Given the description of an element on the screen output the (x, y) to click on. 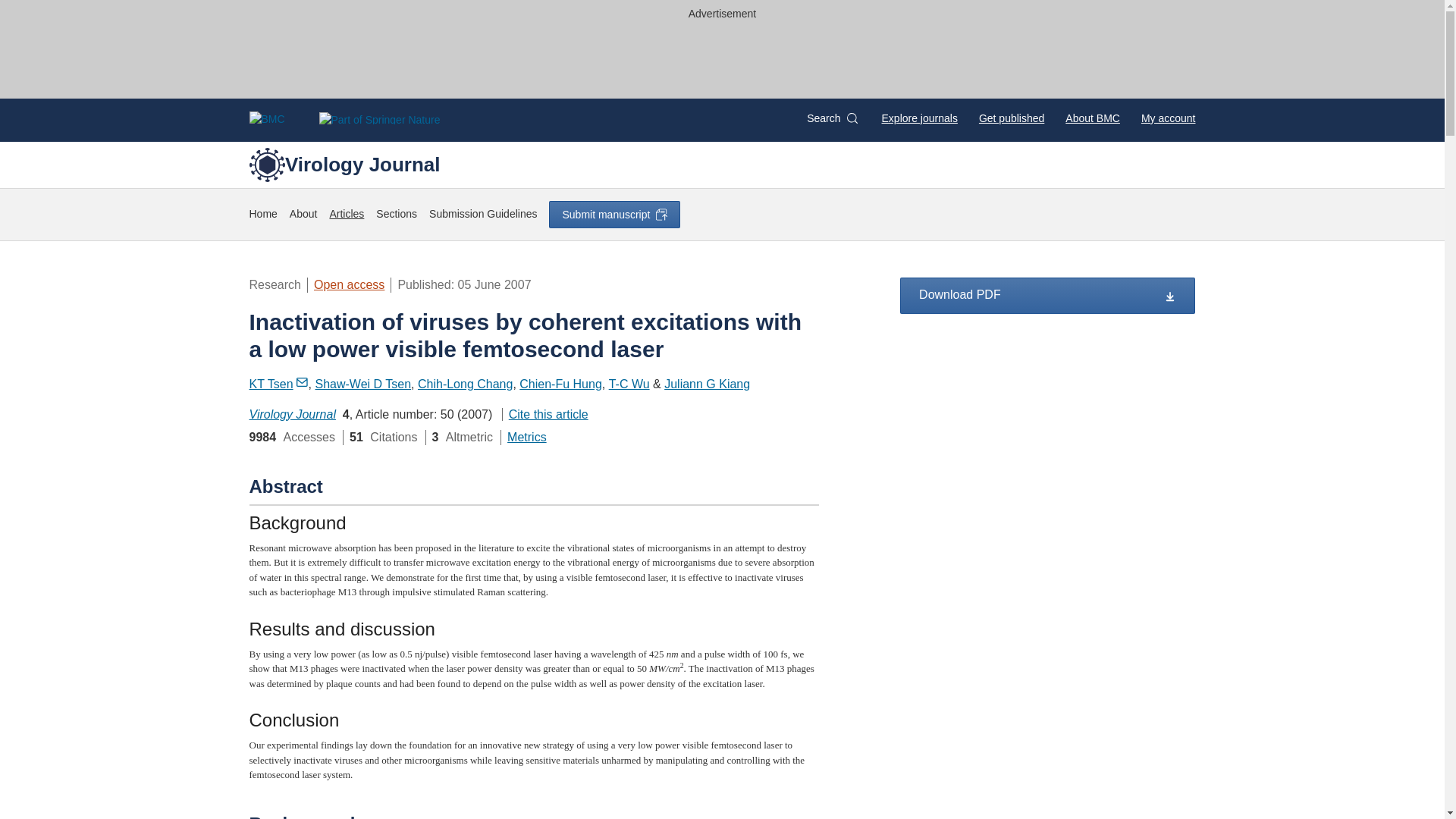
My account (1168, 118)
About BMC (1092, 118)
Juliann G Kiang (706, 383)
Metrics (526, 436)
Articles (346, 213)
T-C Wu (628, 383)
Virology Journal (291, 413)
Cite this article (545, 413)
Submit manuscript (613, 213)
Sections (395, 213)
KT Tsen (277, 383)
Get published (1010, 118)
About (303, 213)
Virology Journal (343, 163)
Chih-Long Chang (464, 383)
